Given the description of an element on the screen output the (x, y) to click on. 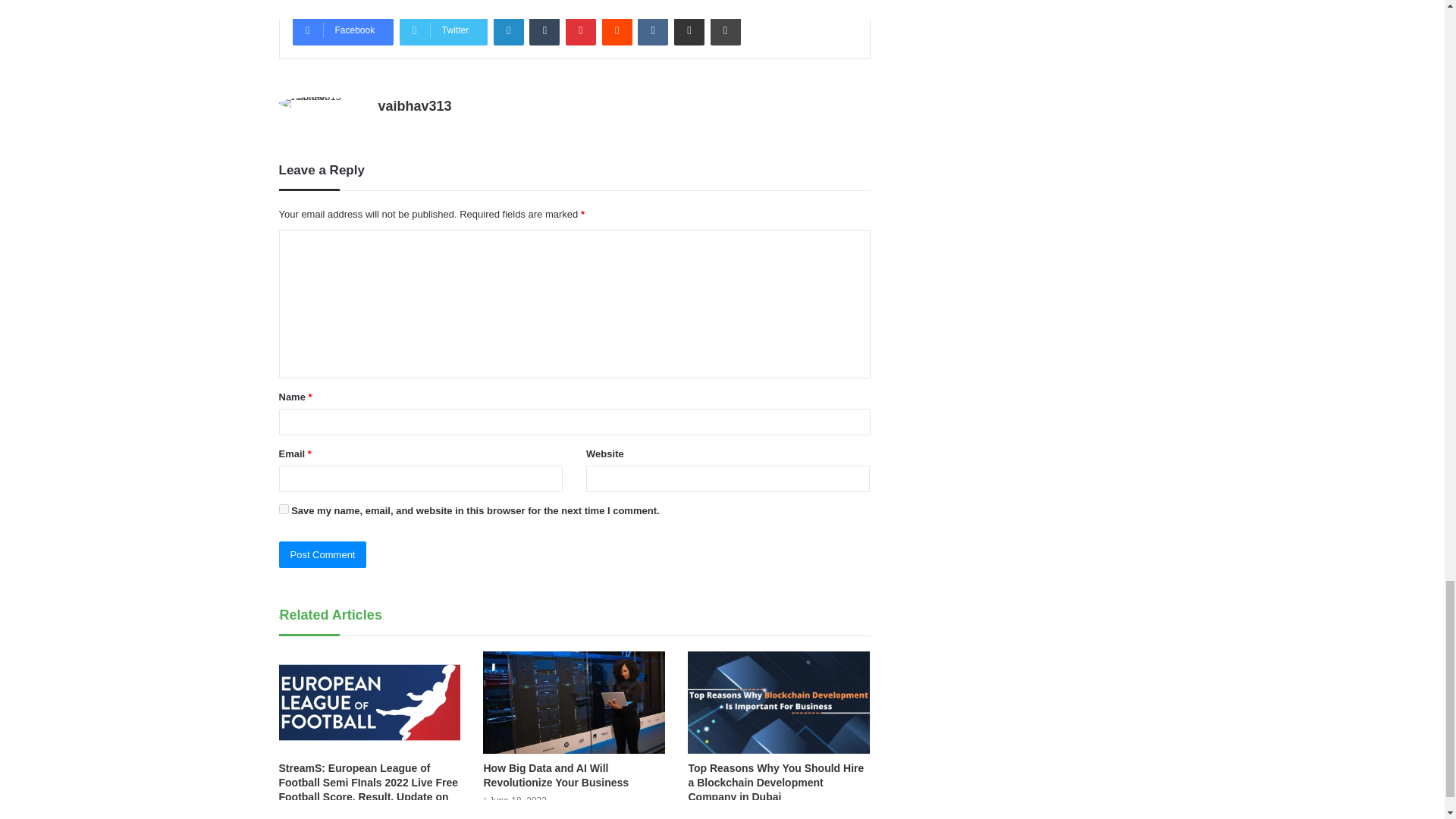
Post Comment (322, 554)
Tumblr (544, 30)
Facebook (343, 30)
Pinterest (580, 30)
VKontakte (652, 30)
LinkedIn (508, 30)
Facebook (343, 30)
Reddit (616, 30)
Twitter (442, 30)
yes (283, 509)
